Given the description of an element on the screen output the (x, y) to click on. 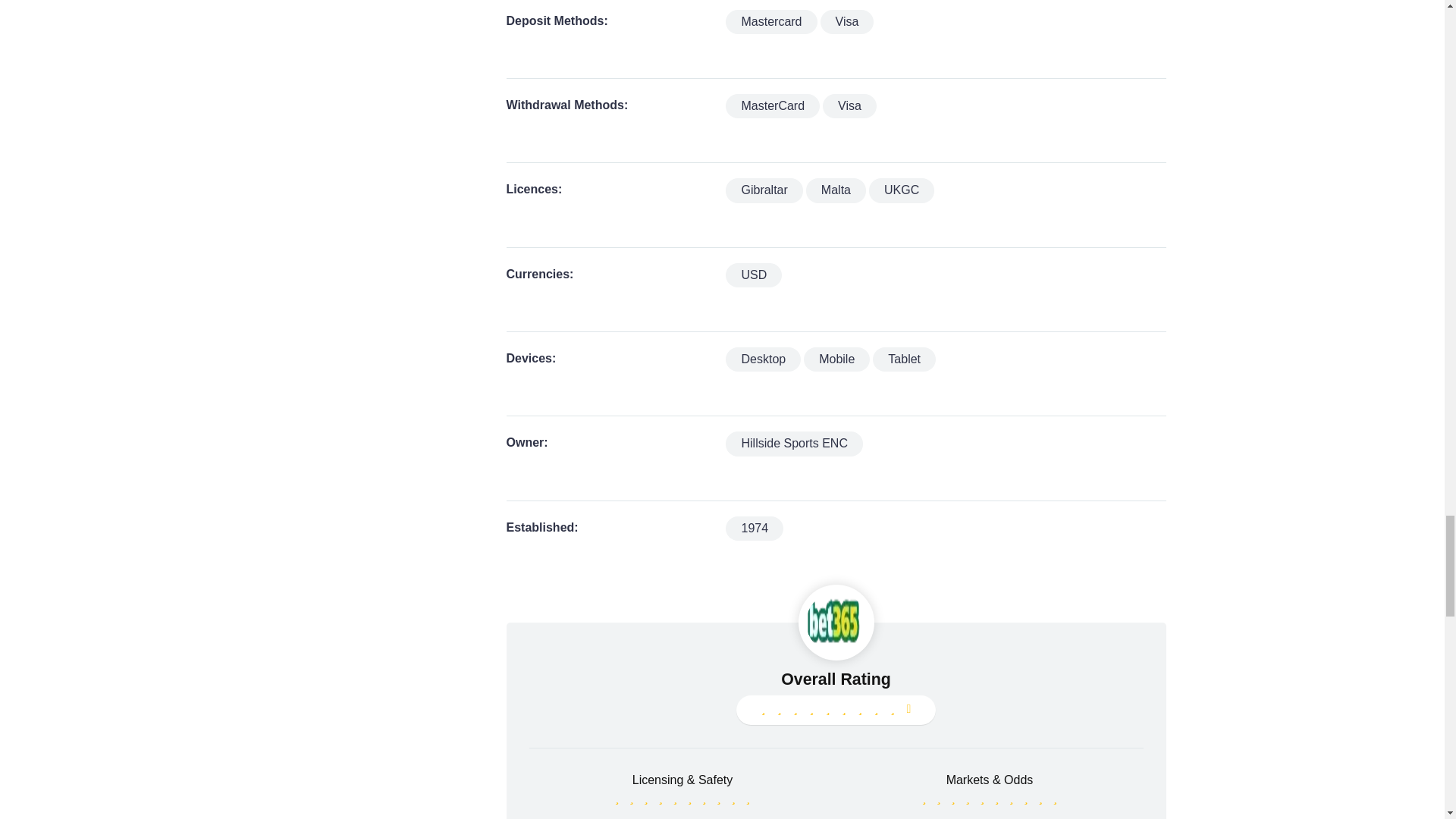
Desktop (762, 359)
Desktop (762, 359)
Malta (836, 190)
Mastercard (770, 21)
Mobile (836, 359)
Mastercard (770, 21)
UKGC (901, 190)
MasterCard (772, 105)
Malta (836, 190)
Mobile (836, 359)
Visa (849, 105)
Hillside Sports ENC (793, 443)
UKGC (901, 190)
Visa (848, 21)
USD (753, 274)
